Given the description of an element on the screen output the (x, y) to click on. 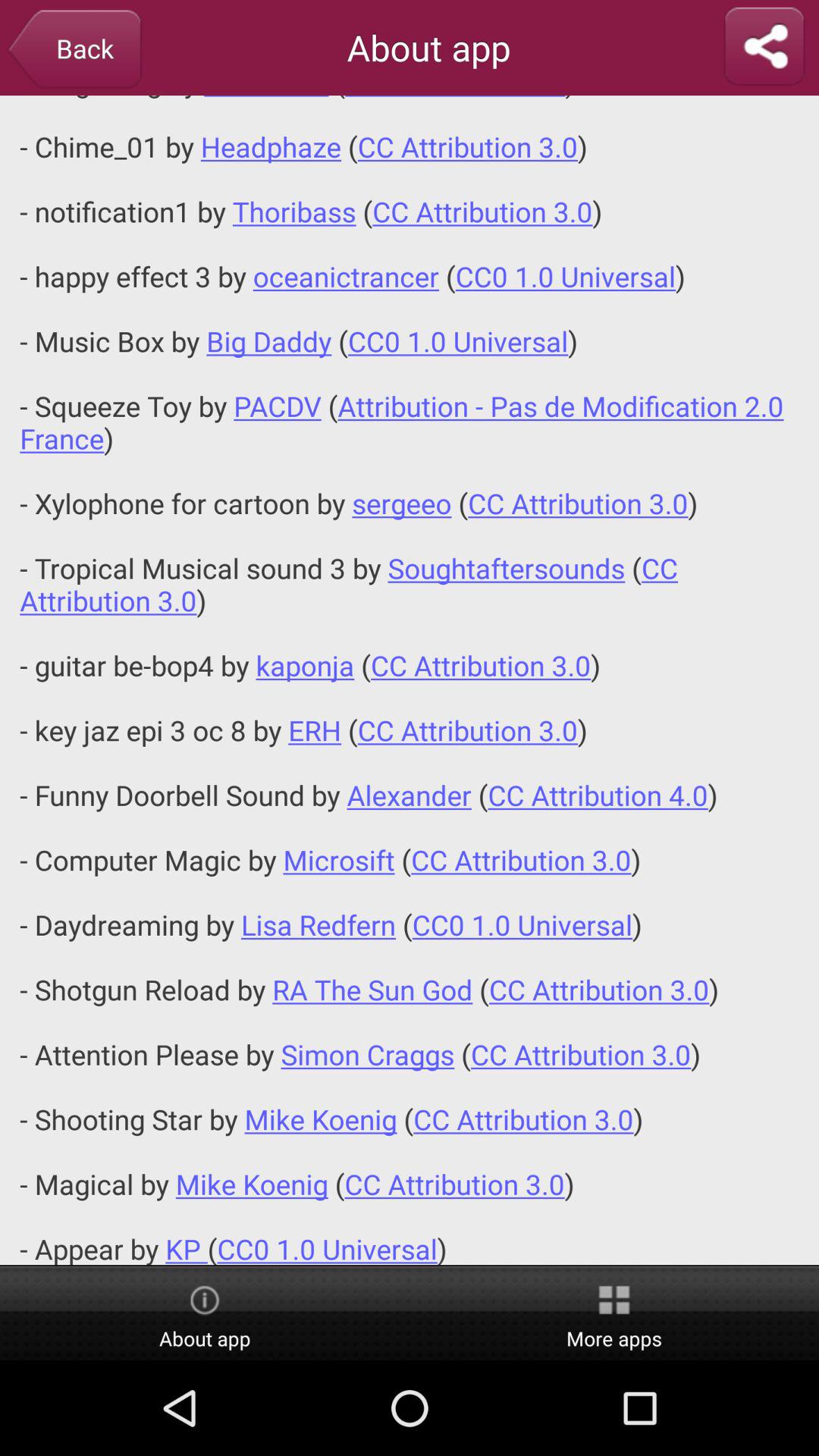
turn on the button at the bottom right corner (614, 1314)
